Given the description of an element on the screen output the (x, y) to click on. 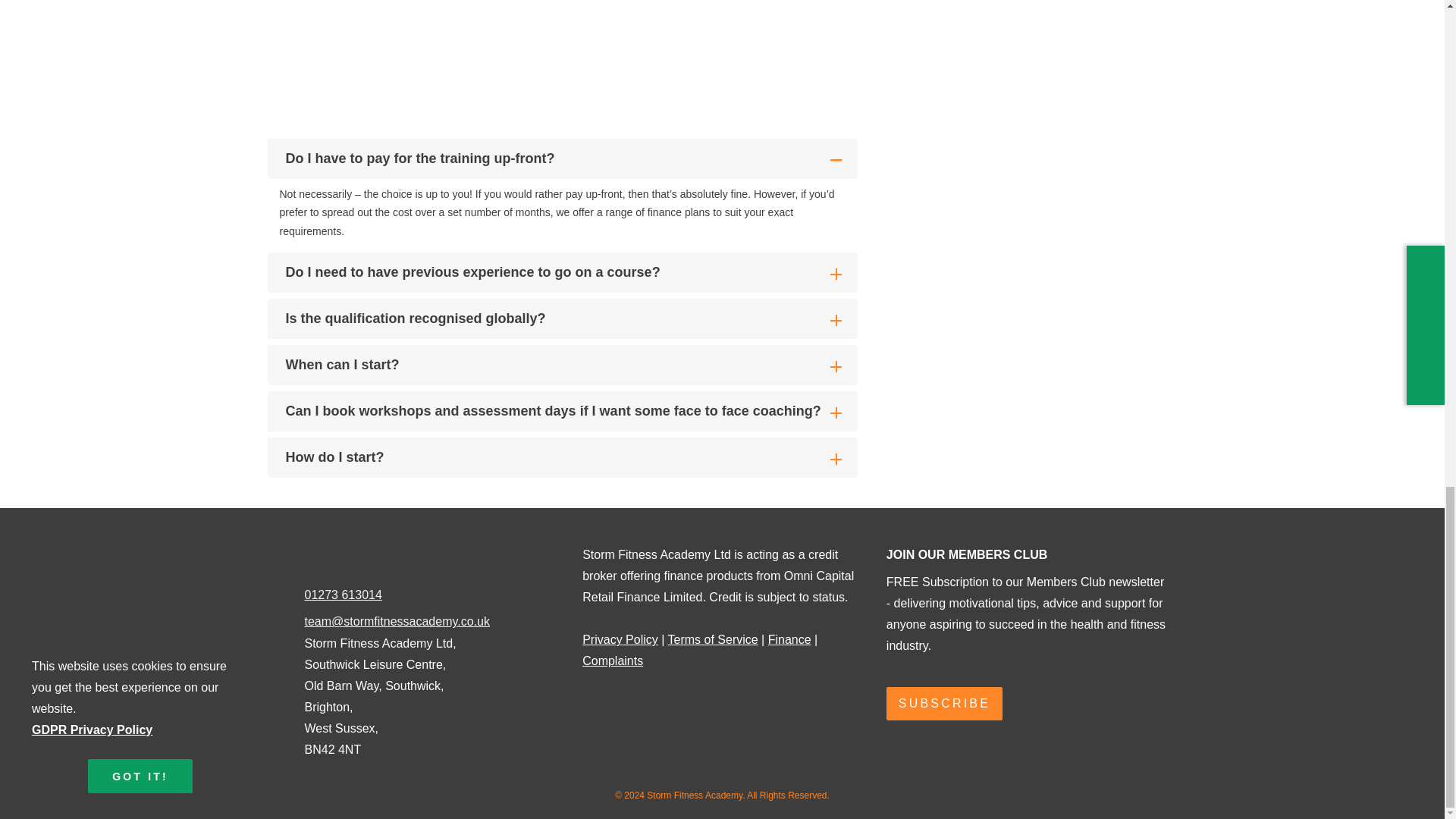
Accordion Toggle (835, 459)
Accordion Toggle (835, 160)
Accordion Toggle (835, 412)
Accordion Toggle (835, 274)
Accordion Toggle (835, 319)
Accordion Toggle (835, 366)
